Given the description of an element on the screen output the (x, y) to click on. 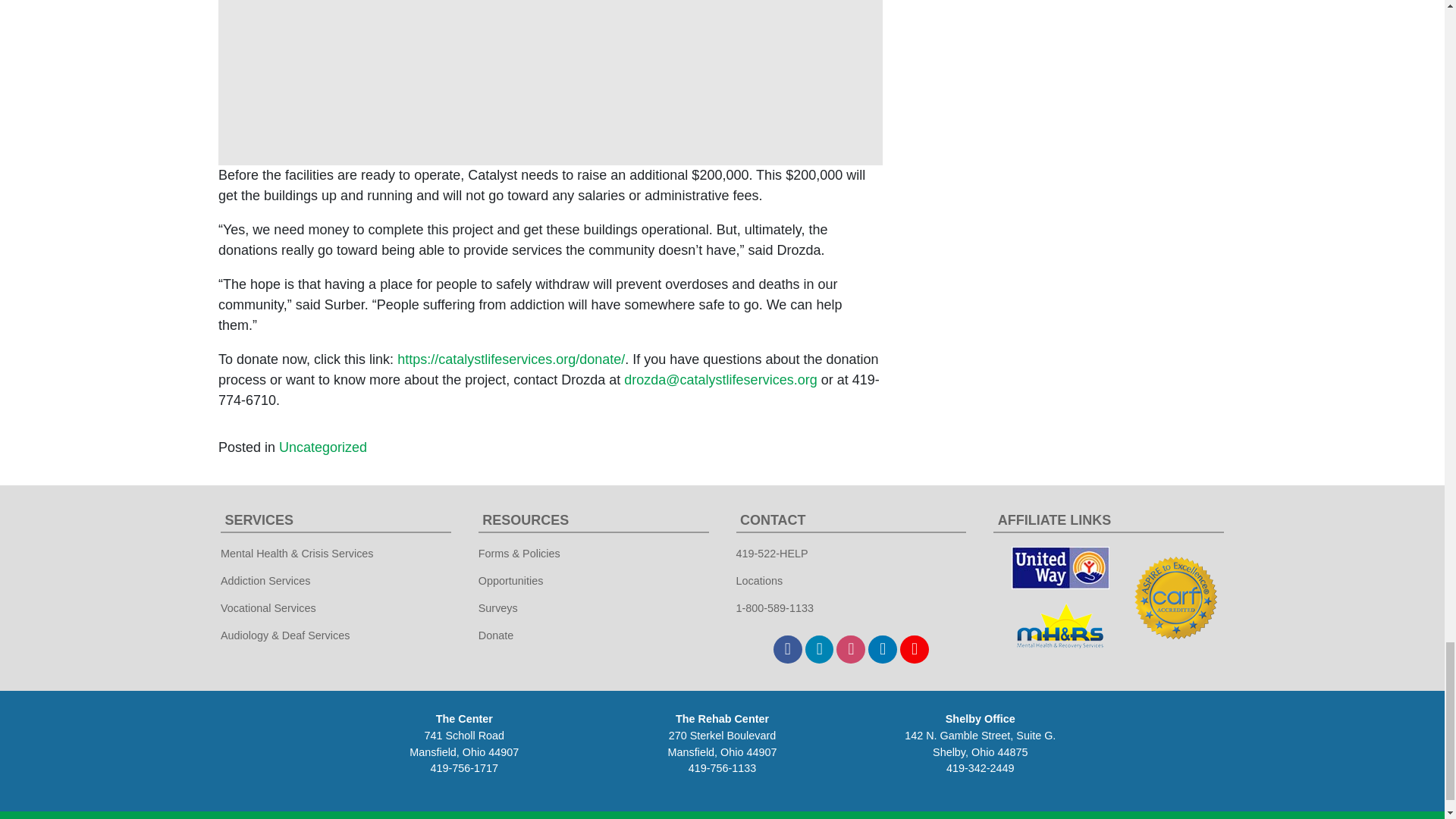
Facebook (787, 649)
Policies (1396, 818)
Twitter (819, 649)
Instagram (849, 649)
LinkedIn (881, 649)
Uncategorized (322, 447)
YouTube (913, 649)
